Given the description of an element on the screen output the (x, y) to click on. 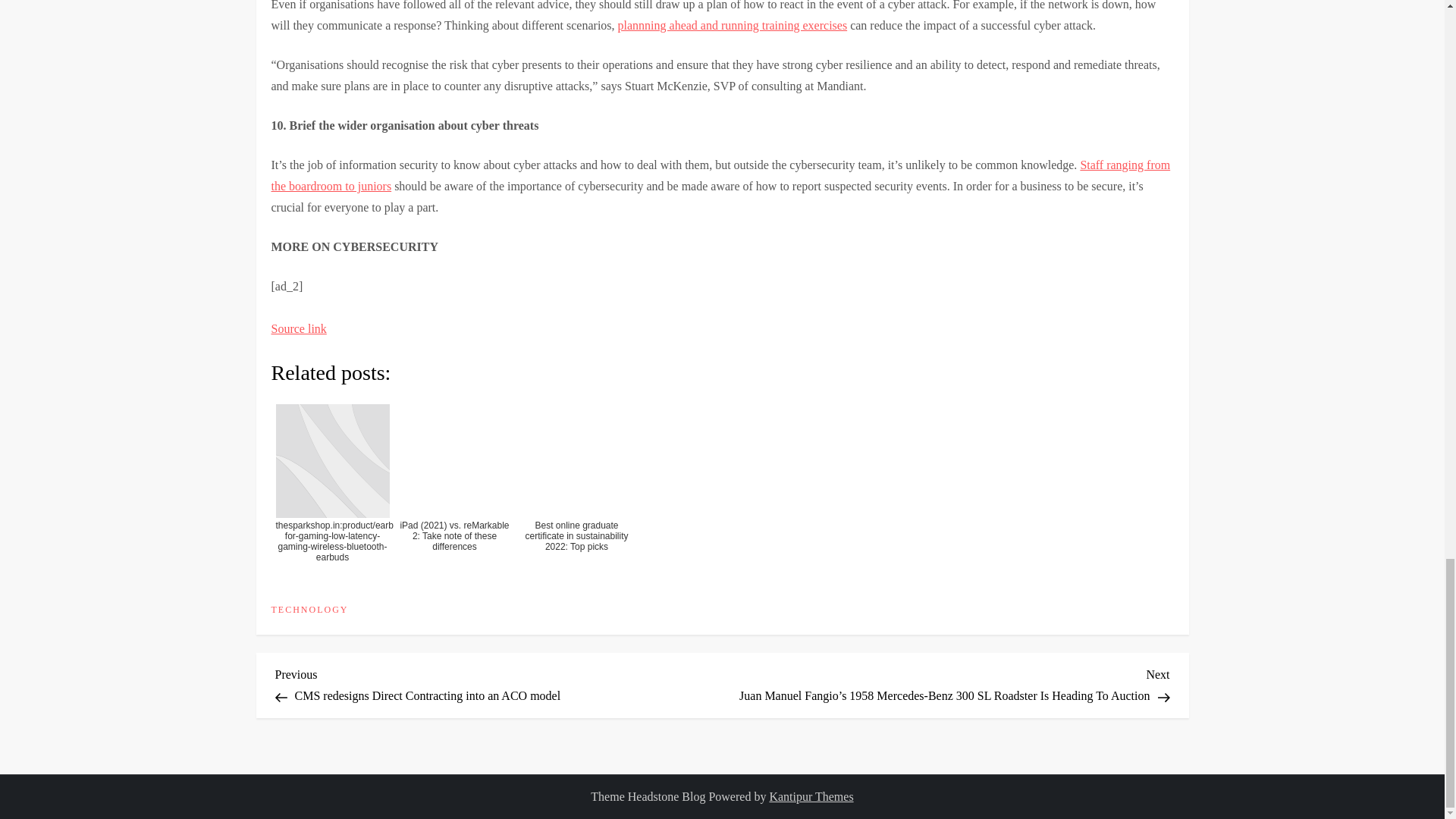
Staff ranging from the boardroom to juniors (720, 175)
TECHNOLOGY (309, 610)
Source link (298, 328)
plannning ahead and running training exercises (732, 24)
